Given the description of an element on the screen output the (x, y) to click on. 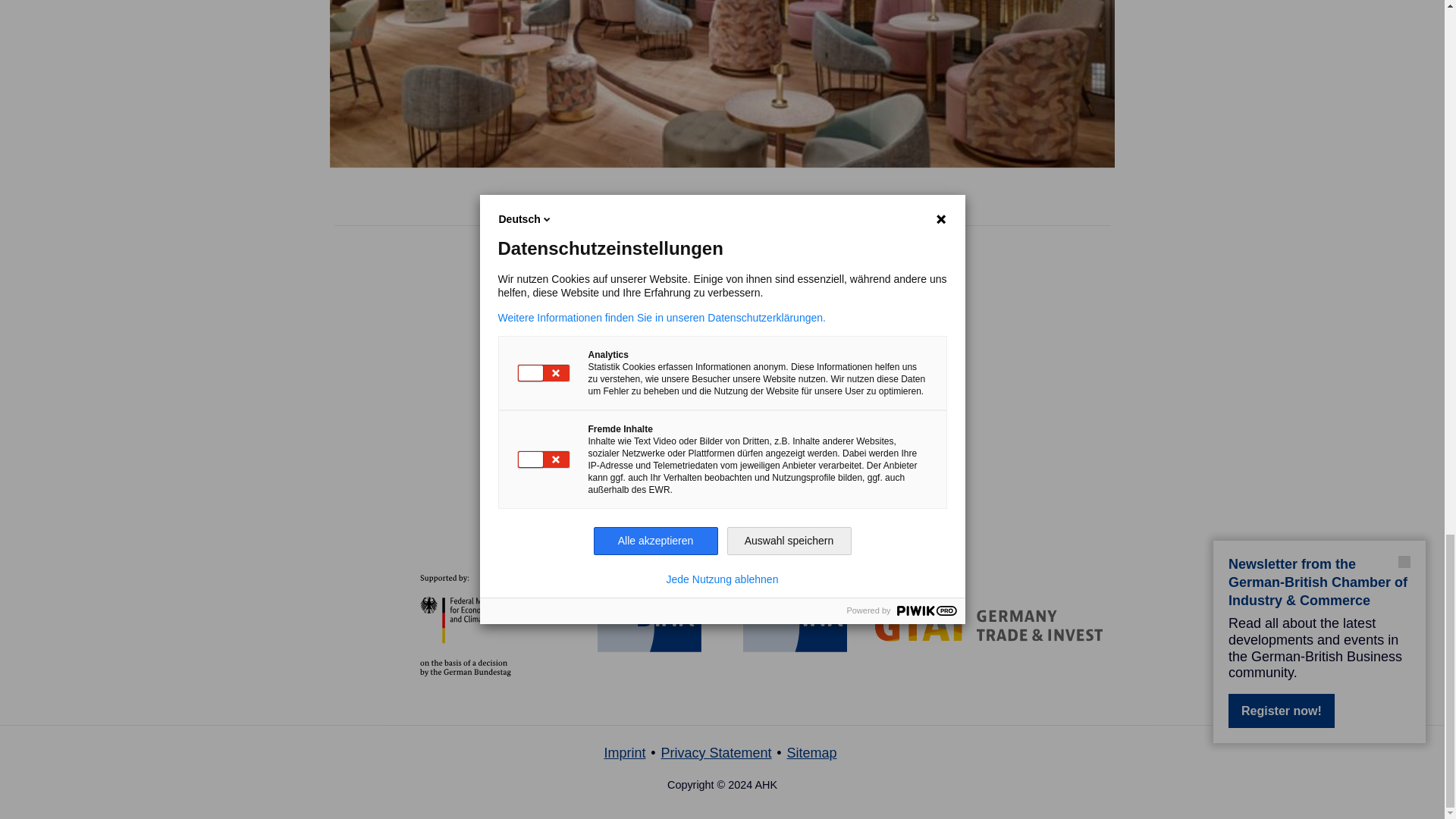
Privacy Statement (716, 752)
Imprint (624, 752)
Evelyn Mensah (596, 324)
Footer (721, 759)
Sitemap (812, 752)
